Given the description of an element on the screen output the (x, y) to click on. 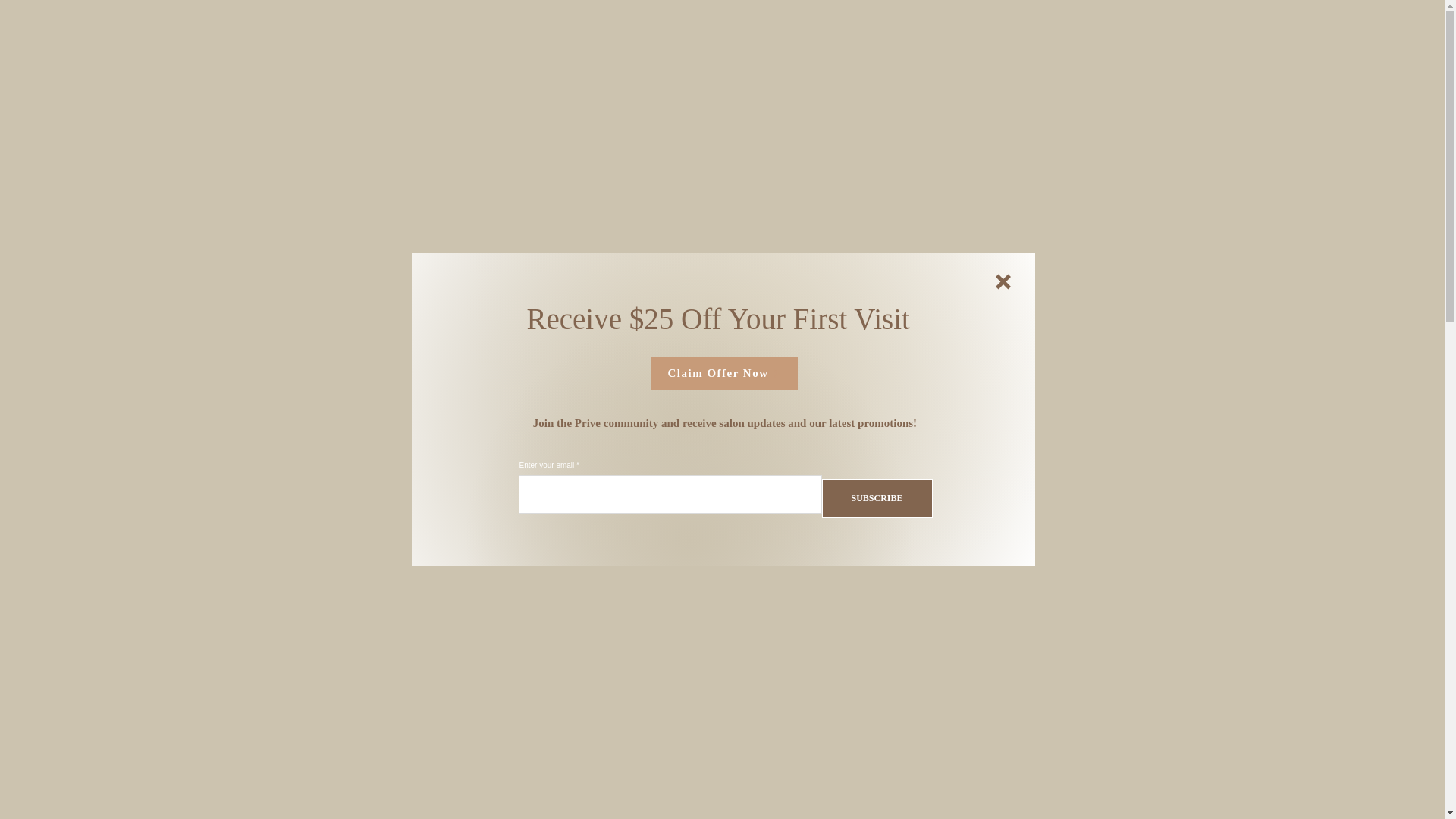
Services (430, 19)
RETURNING GUESTS BOOK HERE (1305, 32)
Claim Offer Now (723, 373)
Back to site (1002, 281)
Careers (582, 19)
Our Story (358, 19)
Our Stylists (507, 19)
New Guests (277, 19)
Locations (195, 19)
SUBSCRIBE (877, 498)
